Given the description of an element on the screen output the (x, y) to click on. 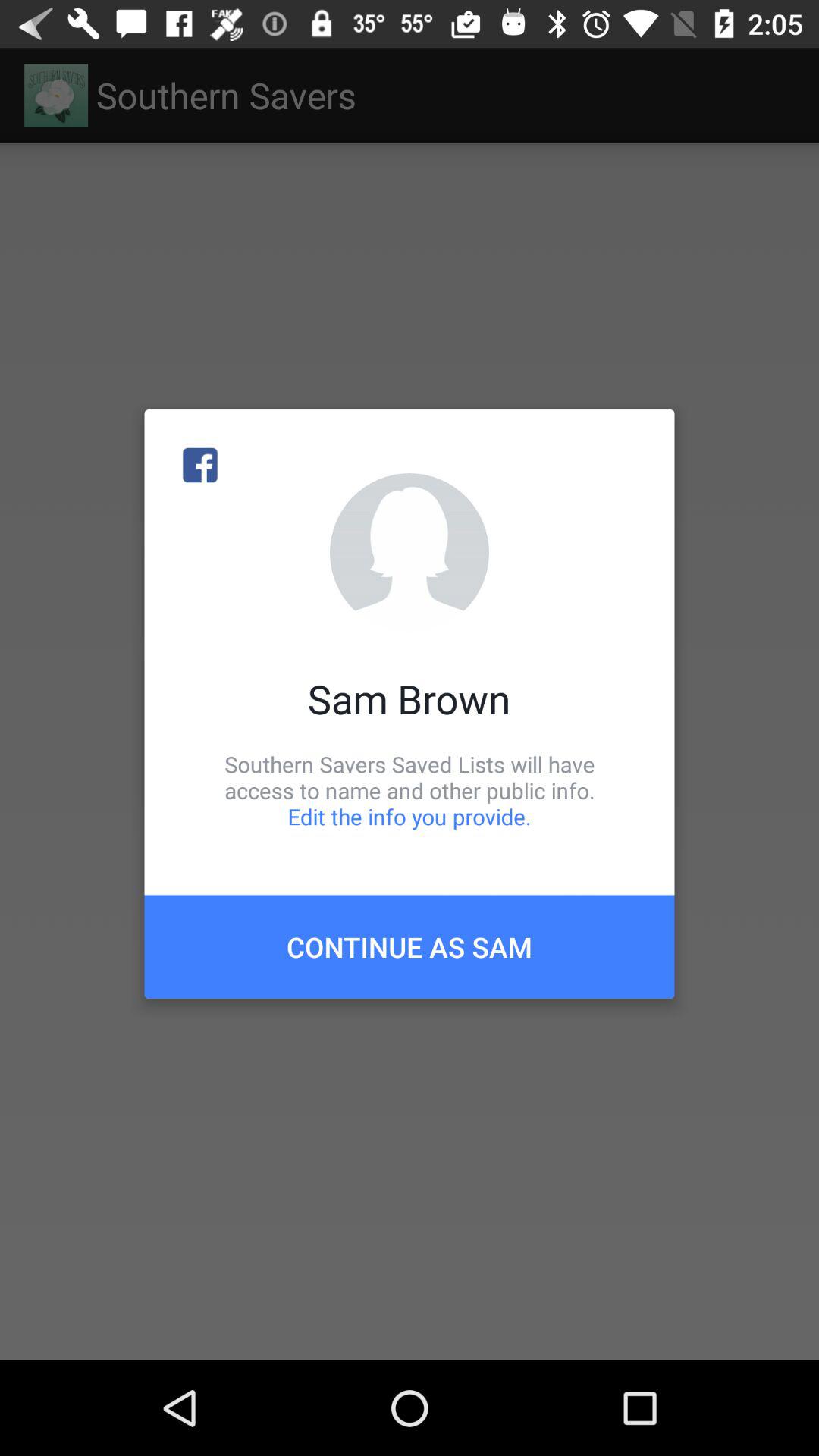
flip to southern savers saved icon (409, 790)
